Given the description of an element on the screen output the (x, y) to click on. 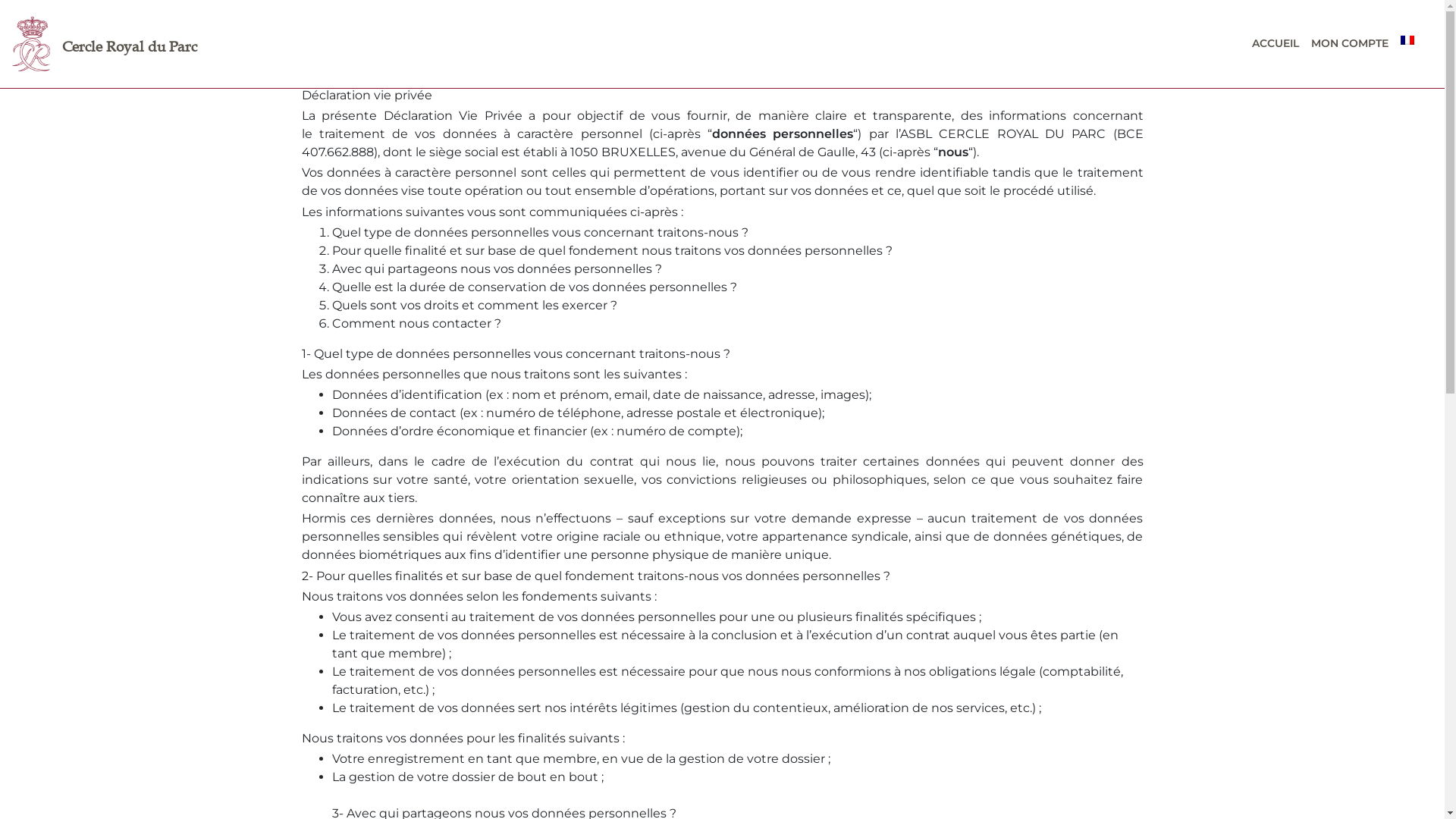
ACCUEIL Element type: text (1275, 43)
MON COMPTE Element type: text (1349, 43)
